Given the description of an element on the screen output the (x, y) to click on. 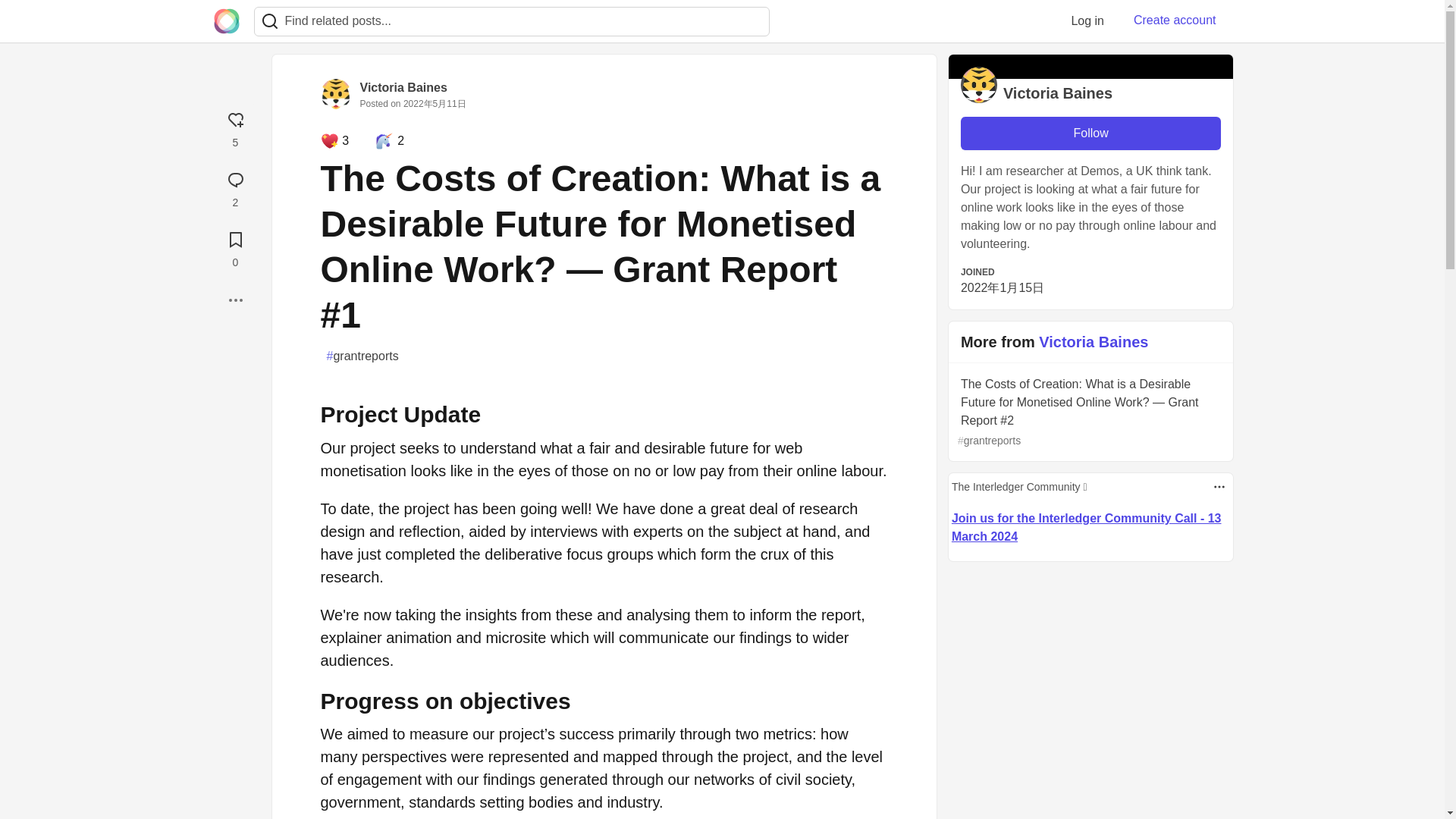
0 (235, 247)
Dropdown menu (1218, 486)
More... (234, 300)
2 (235, 187)
More... (234, 299)
Log in (1087, 20)
Create account (1174, 20)
Victoria Baines (402, 87)
